Given the description of an element on the screen output the (x, y) to click on. 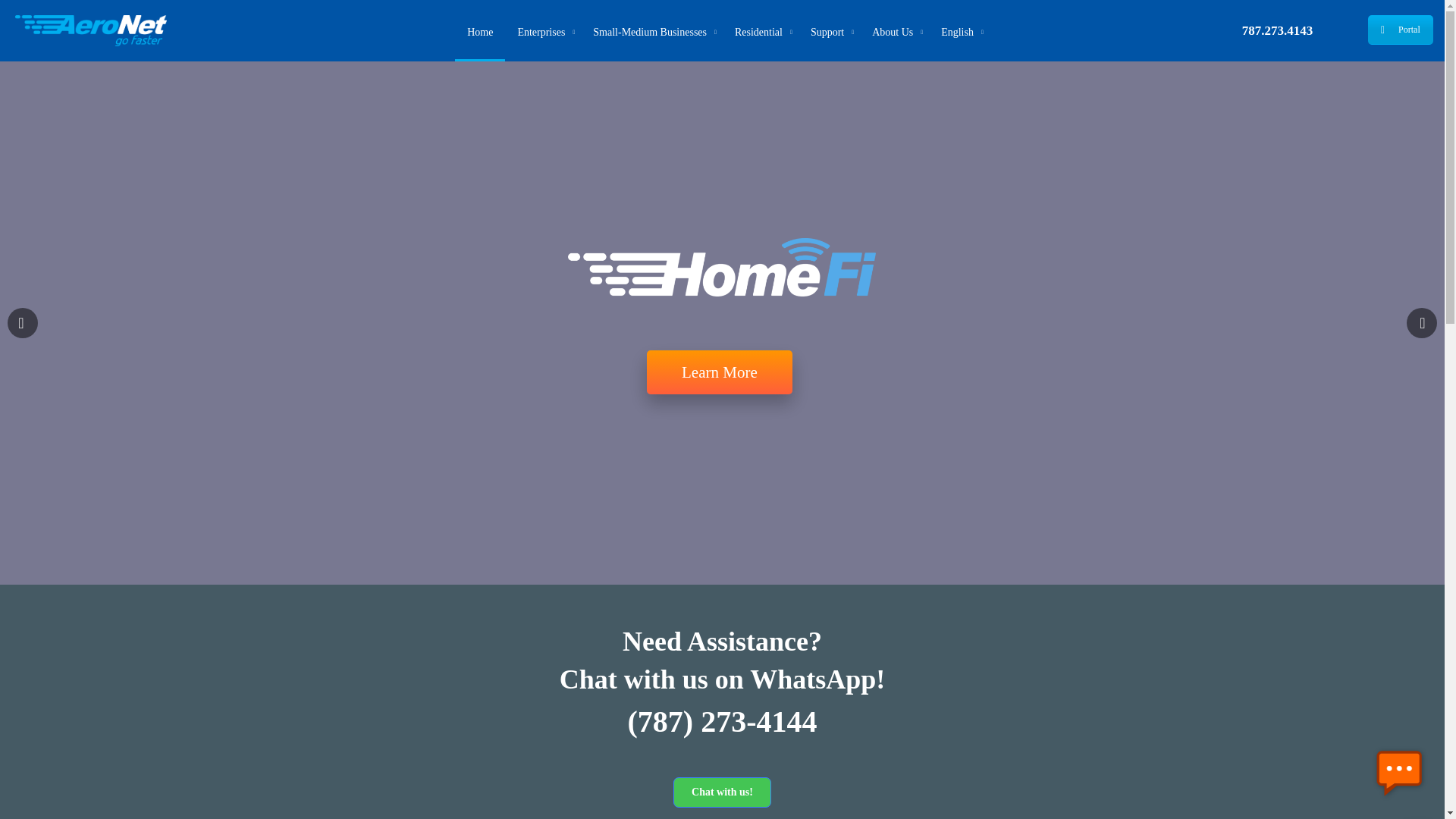
Enterprises (542, 30)
Customer Portal (1400, 30)
Kustomer Widget Iframe (1398, 772)
